Given the description of an element on the screen output the (x, y) to click on. 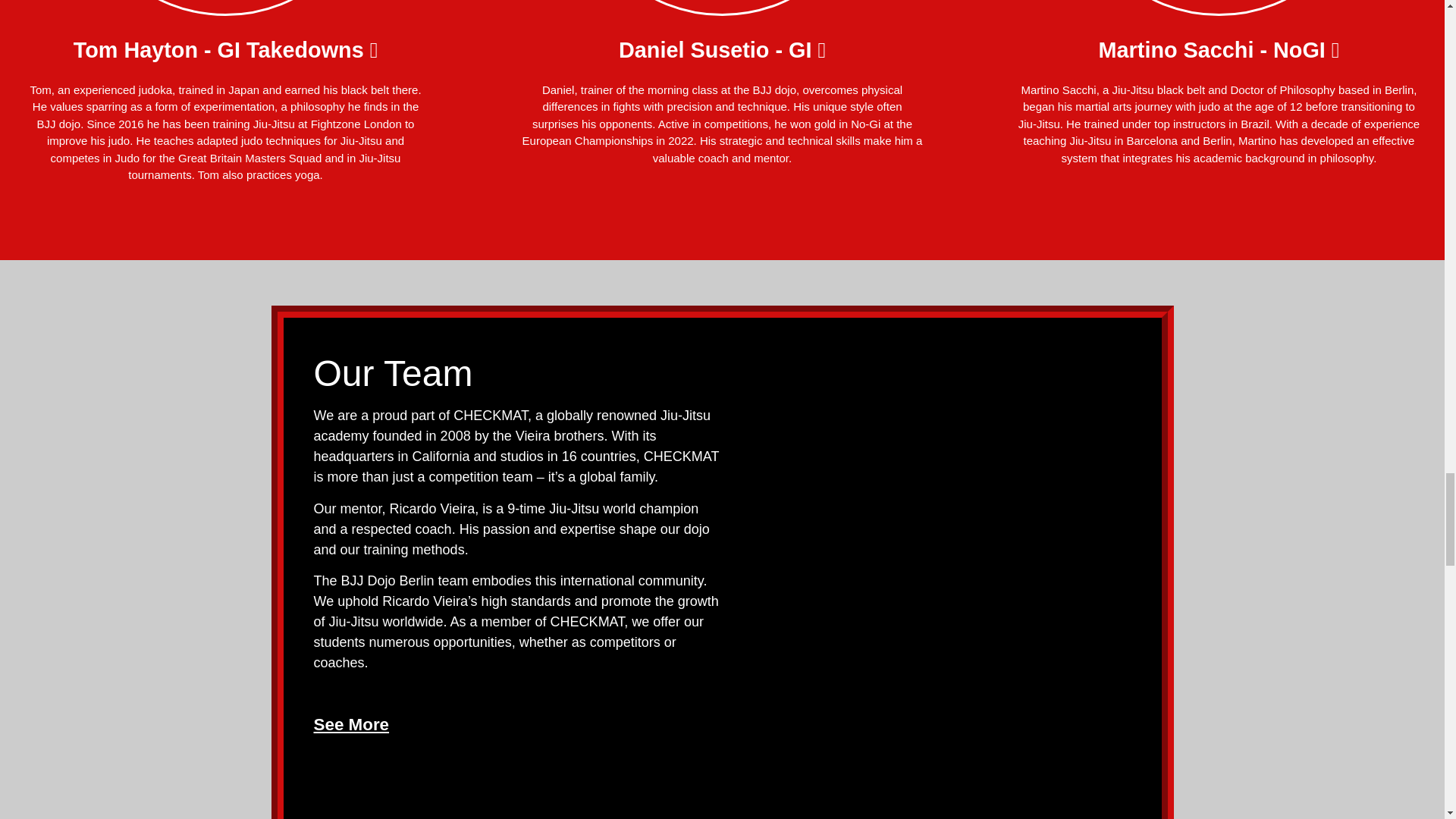
Martino Sacchi - NoGI (1215, 49)
See More (352, 723)
